Given the description of an element on the screen output the (x, y) to click on. 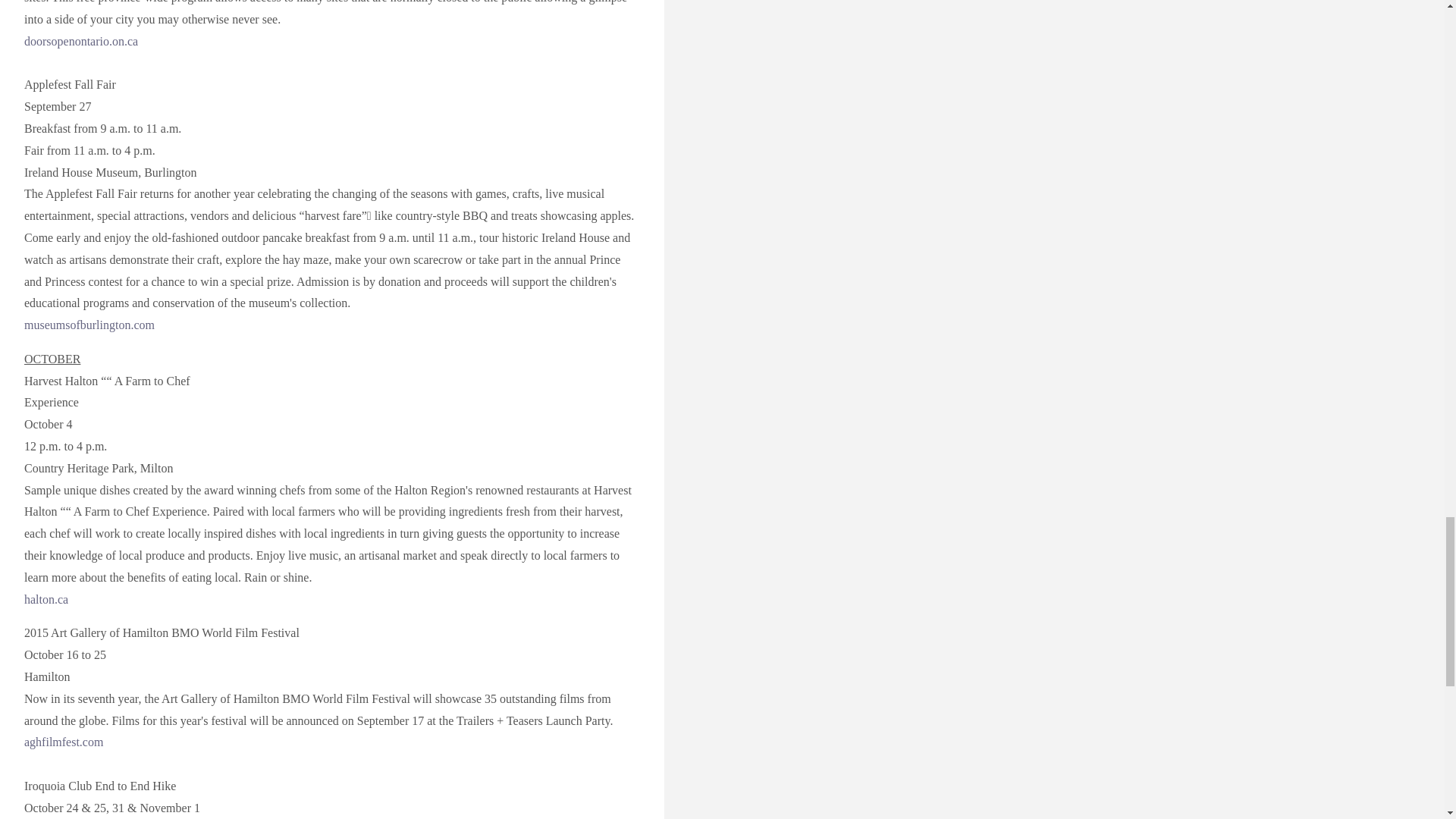
doorsopenontario.on.ca (81, 41)
halton.ca (46, 599)
museumsofburlington.com (89, 324)
